Given the description of an element on the screen output the (x, y) to click on. 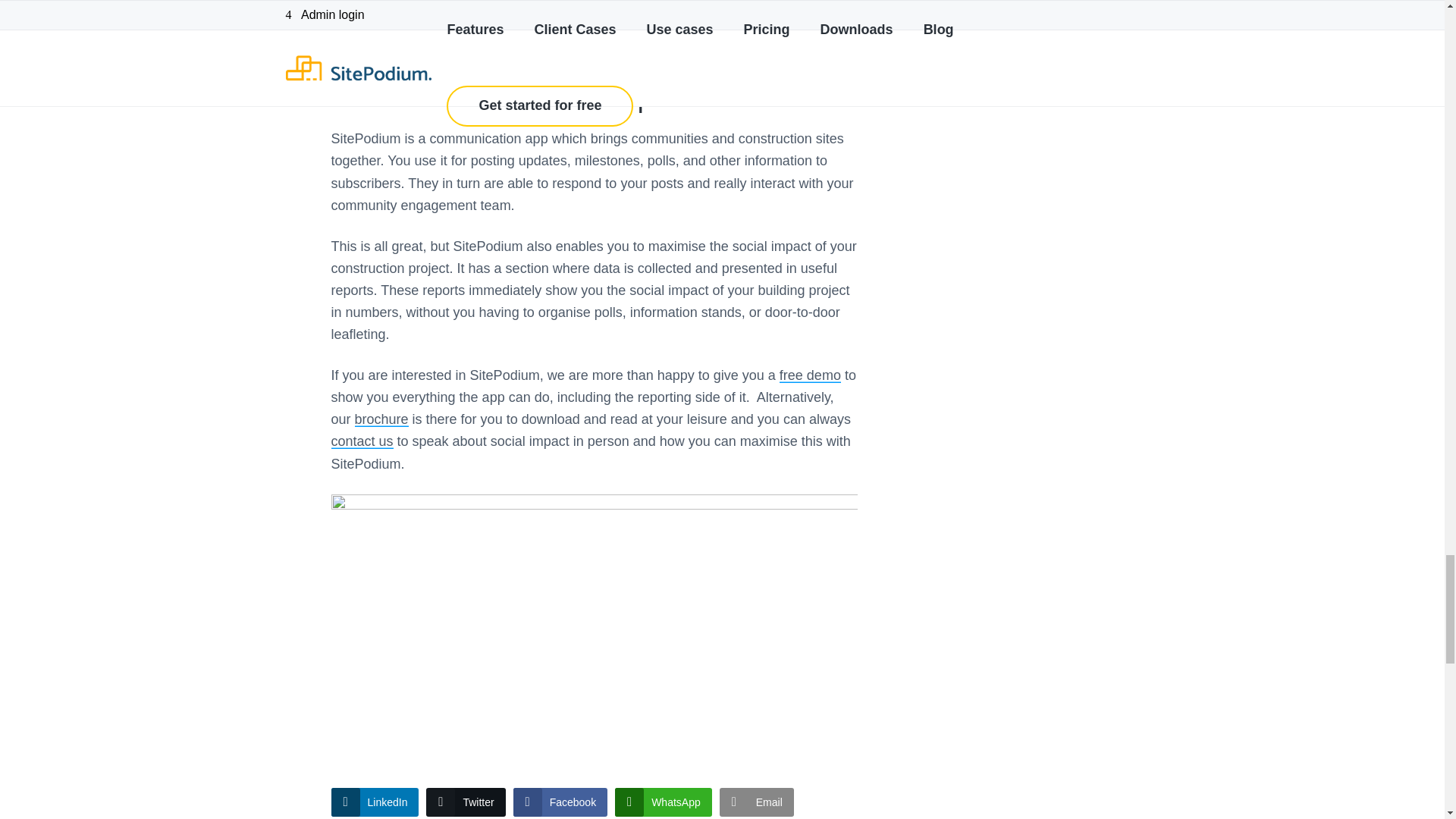
free demo (809, 375)
Email (756, 801)
LinkedIn (374, 801)
Facebook (560, 801)
contact us (361, 441)
brochure (382, 418)
Twitter (465, 801)
WhatsApp (662, 801)
